Given the description of an element on the screen output the (x, y) to click on. 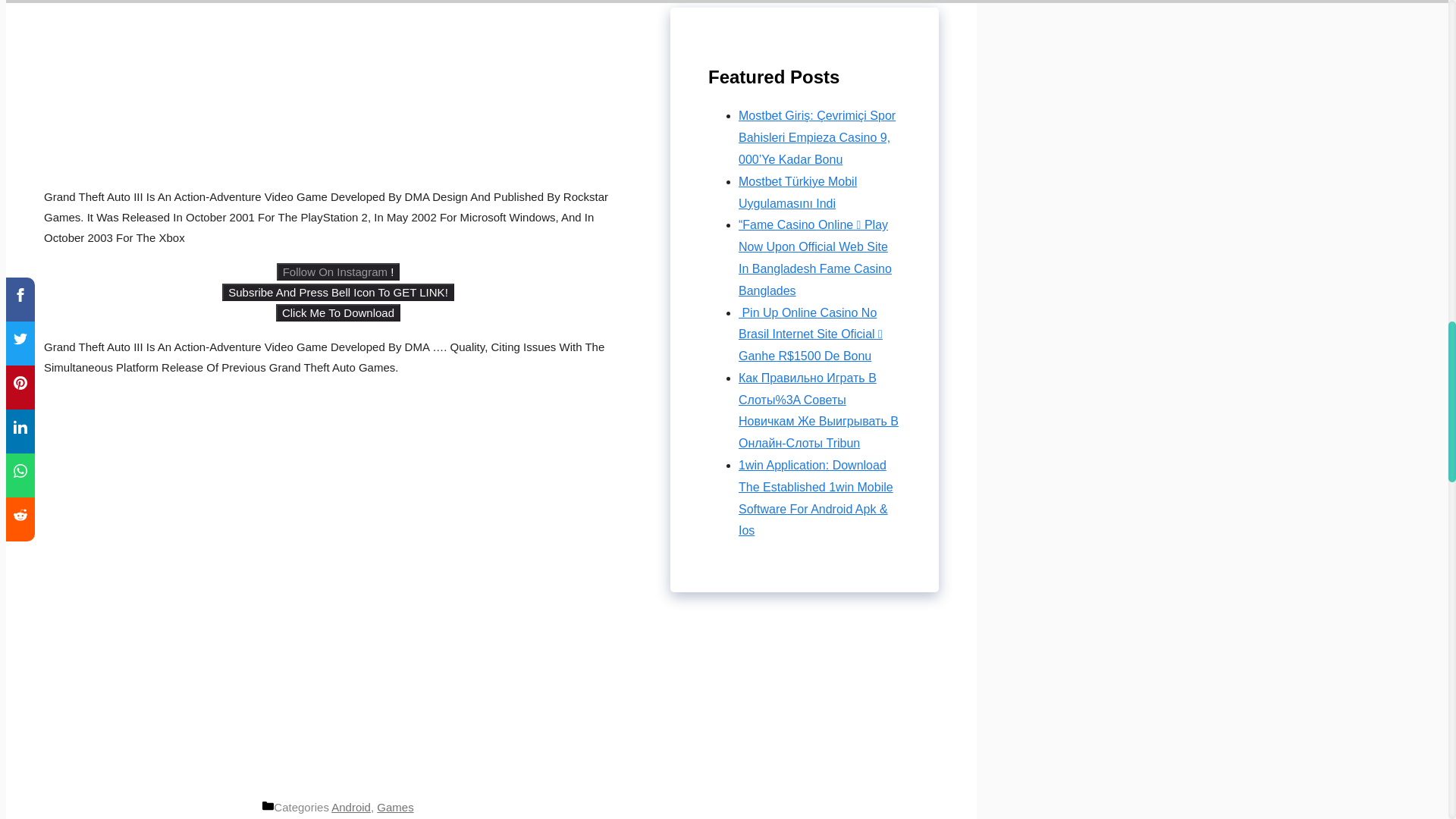
Follow On Instagram ! (338, 271)
Click Me To Download (338, 312)
Subsribe And Press Bell Icon To GET LINK! (338, 292)
Games (395, 807)
Android (351, 807)
